Given the description of an element on the screen output the (x, y) to click on. 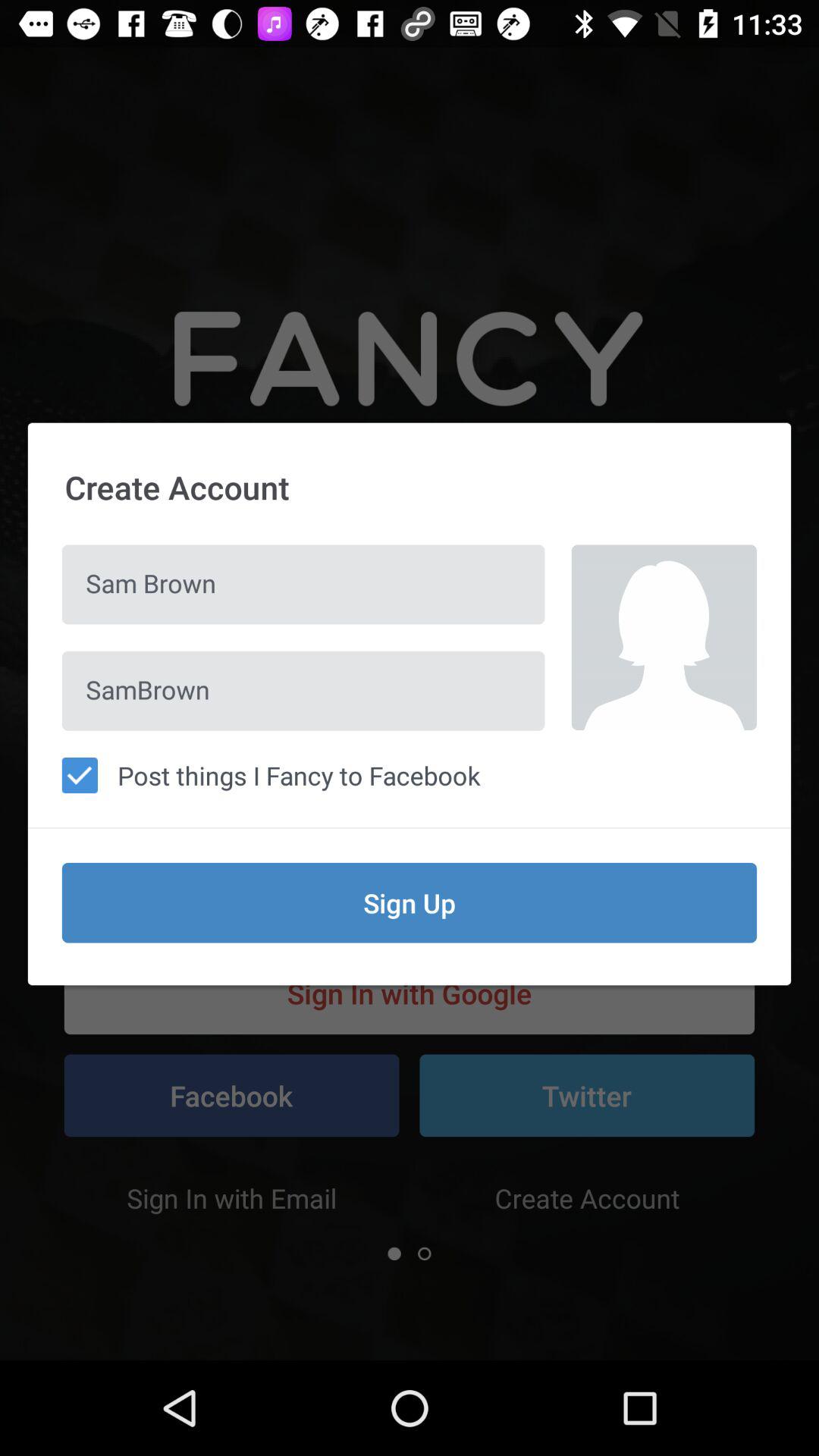
click item on the right (664, 637)
